Given the description of an element on the screen output the (x, y) to click on. 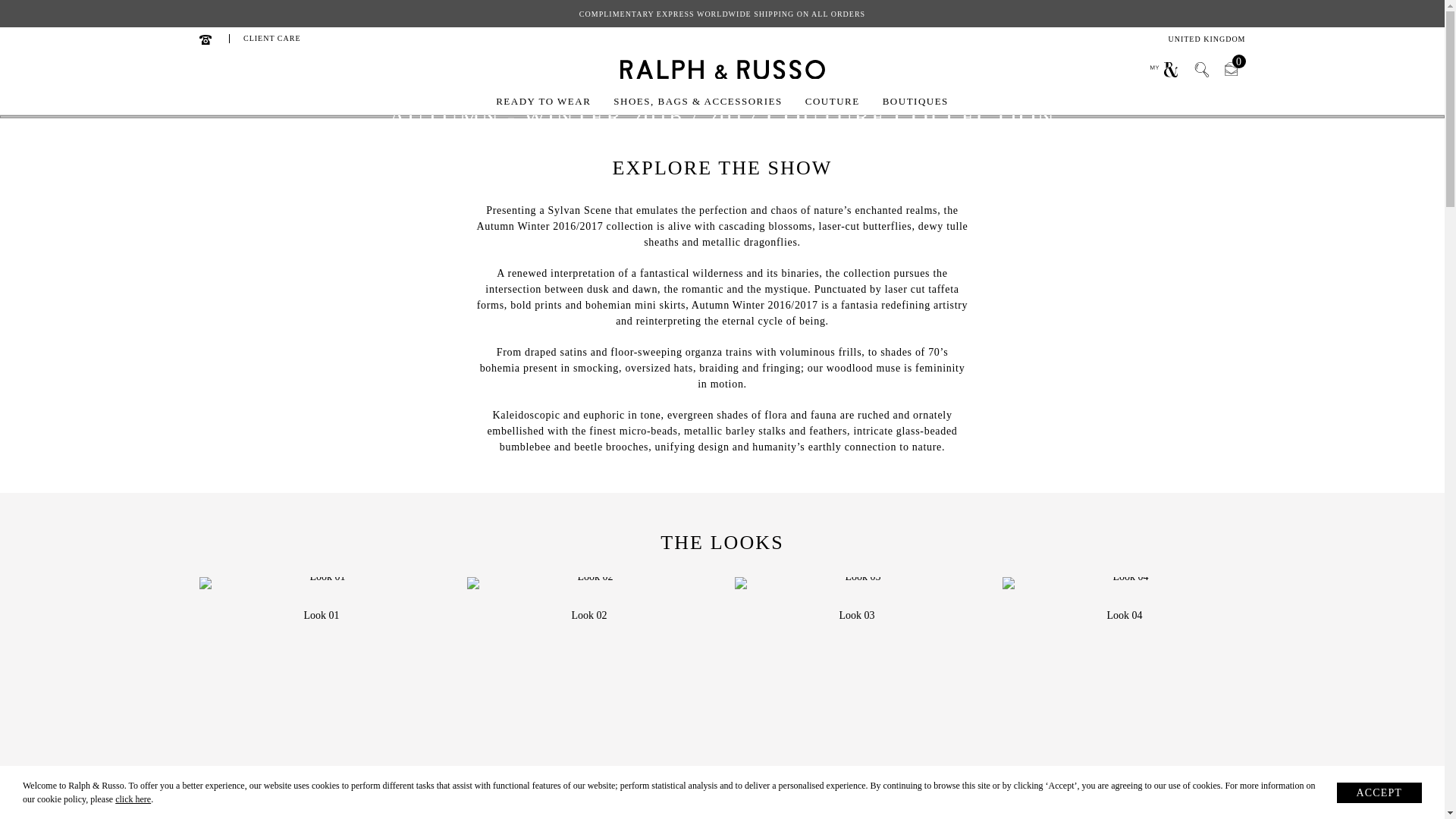
Search (1200, 69)
CLIENT CARE (1229, 69)
Search (272, 38)
Account (1200, 69)
Cart (1163, 69)
UNITED KINGDOM (1229, 69)
READY TO WEAR (1205, 39)
